Given the description of an element on the screen output the (x, y) to click on. 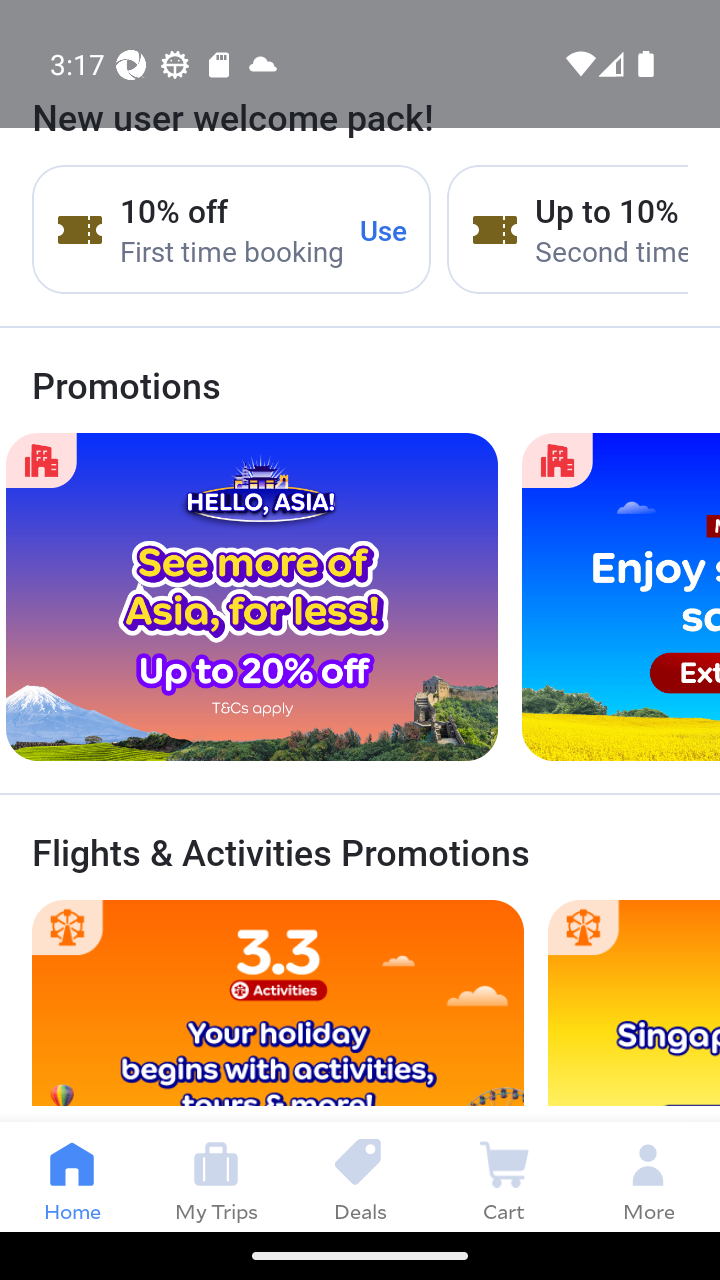
Use (384, 229)
Home (72, 1176)
My Trips (216, 1176)
Deals (360, 1176)
Cart (504, 1176)
More (648, 1176)
